Given the description of an element on the screen output the (x, y) to click on. 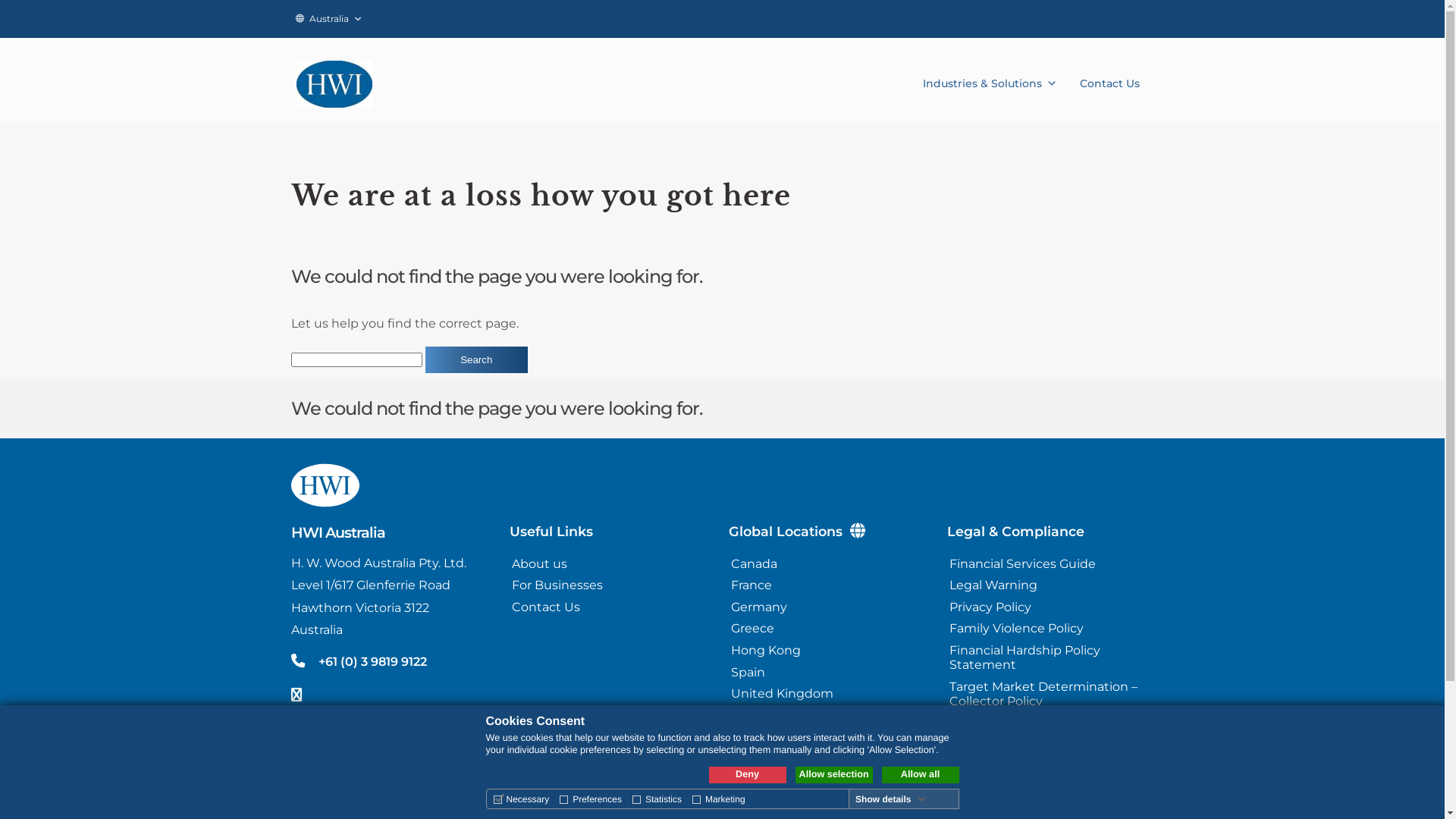
Allow all Element type: text (919, 774)
Global Element type: text (827, 737)
Show details Element type: text (890, 799)
Contact Us Element type: text (1109, 75)
Canada Element type: text (827, 563)
Legal Warning Element type: text (1046, 585)
Greece Element type: text (827, 629)
Contact Us Element type: text (609, 607)
For Businesses Element type: text (609, 585)
Product Development and Distribution Statement Element type: text (1046, 729)
Hong Kong Element type: text (827, 650)
Australia Element type: text (328, 18)
Spain Element type: text (827, 672)
United Kingdom Element type: text (827, 693)
Australian Financial Complaints Authority Element type: text (1046, 765)
Financial Services Guide Element type: text (1046, 563)
Privacy Policy Element type: text (1046, 607)
Financial Hardship Policy Statement Element type: text (1046, 657)
Allow selection Element type: text (833, 774)
About us Element type: text (609, 563)
Deny Element type: text (746, 774)
Search Element type: text (475, 359)
Family Violence Policy Element type: text (1046, 629)
Germany Element type: text (827, 607)
France Element type: text (827, 585)
+61 (0) 3 9819 9122 Element type: text (372, 661)
Industries & Solutions Element type: text (989, 75)
United States Element type: text (827, 715)
